Given the description of an element on the screen output the (x, y) to click on. 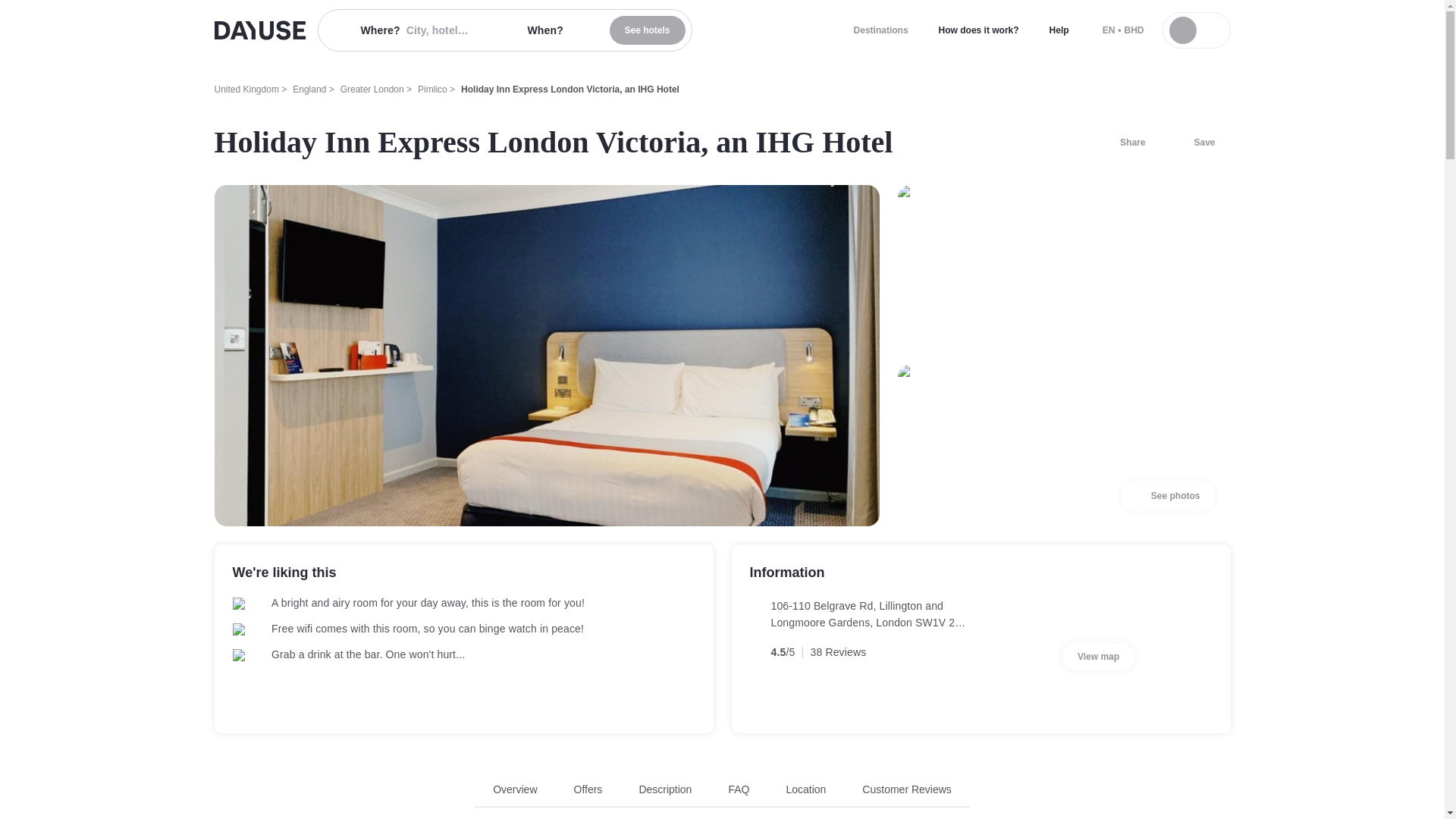
See hotels (647, 30)
How does it work? (978, 30)
Location (805, 789)
Pimlico (431, 89)
England (309, 89)
View map (1098, 656)
See photos (1168, 495)
FAQ (738, 789)
Description (665, 789)
Overview (515, 789)
Share (721, 794)
United Kingdom (1123, 142)
Offers (246, 89)
Destinations (587, 789)
